Given the description of an element on the screen output the (x, y) to click on. 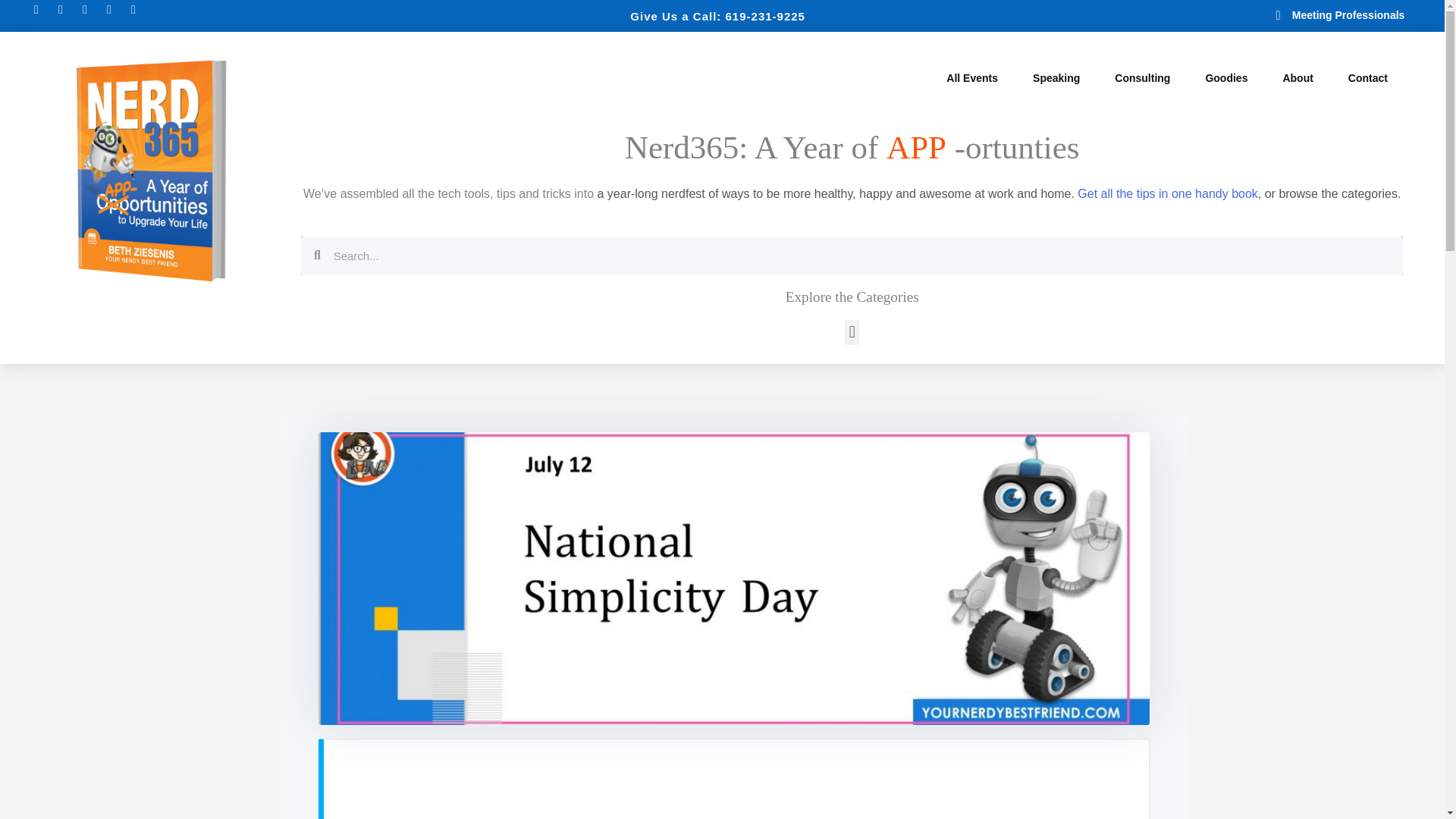
Contact (1368, 78)
All Events (972, 78)
Get all the tips in one handy book (1167, 193)
Search (861, 255)
Speaking (1055, 78)
Goodies (1225, 78)
Meeting Professionals (1294, 15)
Consulting (1142, 78)
